Given the description of an element on the screen output the (x, y) to click on. 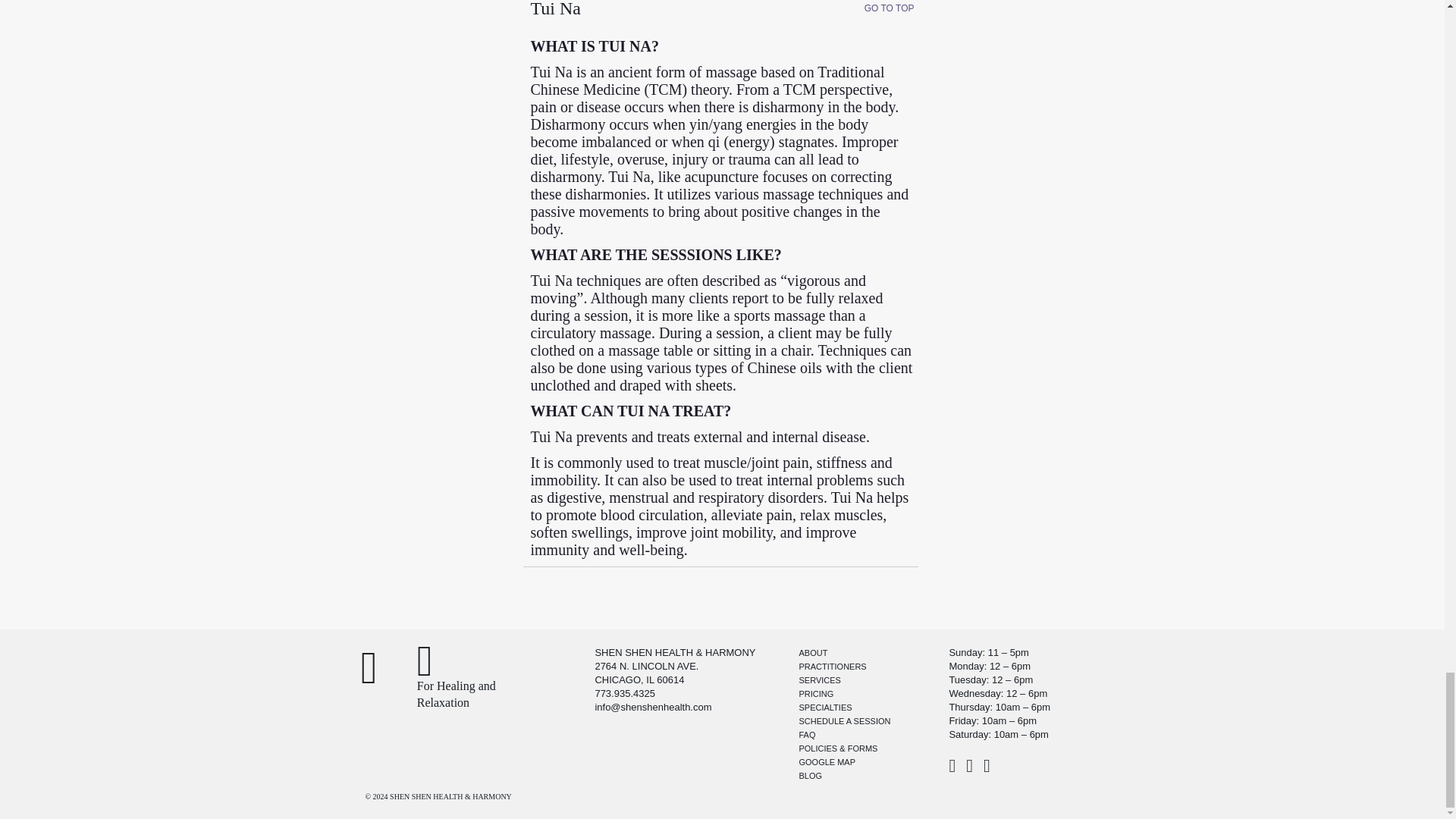
PRICING (814, 693)
FAQ (806, 734)
SCHEDULE A SESSION (843, 720)
BLOG (809, 775)
SPECIALTIES (824, 706)
GO TO TOP (889, 8)
ABOUT (812, 652)
GOOGLE MAP (826, 761)
773.935.4325 (624, 693)
PRACTITIONERS (831, 665)
